Given the description of an element on the screen output the (x, y) to click on. 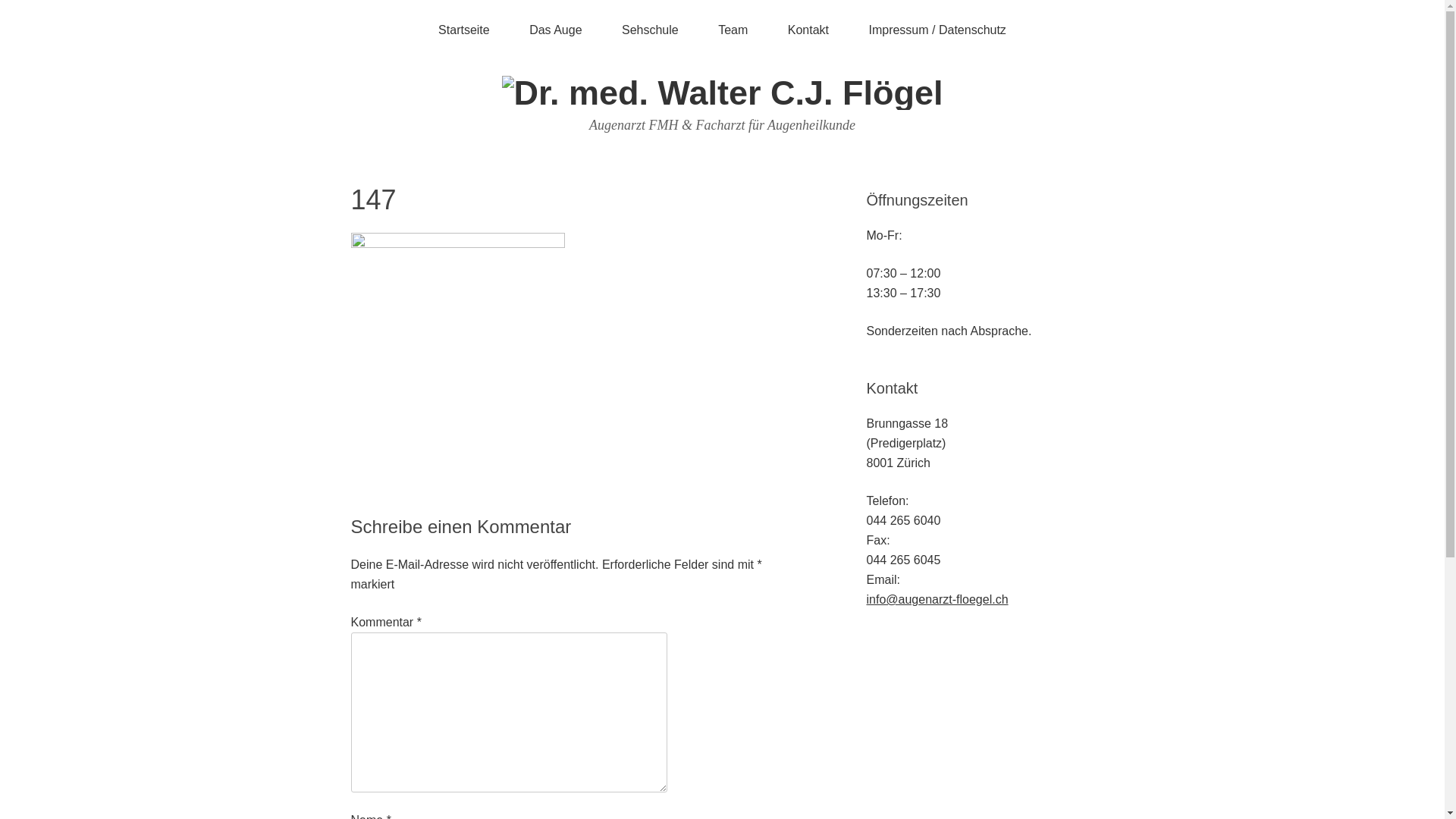
Impressum / Datenschutz Element type: text (936, 30)
Das Auge Element type: text (555, 30)
info@augenarzt-floegel.ch Element type: text (936, 599)
Team Element type: text (732, 30)
Sehschule Element type: text (649, 30)
Startseite Element type: text (464, 30)
Kontakt Element type: text (808, 30)
